Given the description of an element on the screen output the (x, y) to click on. 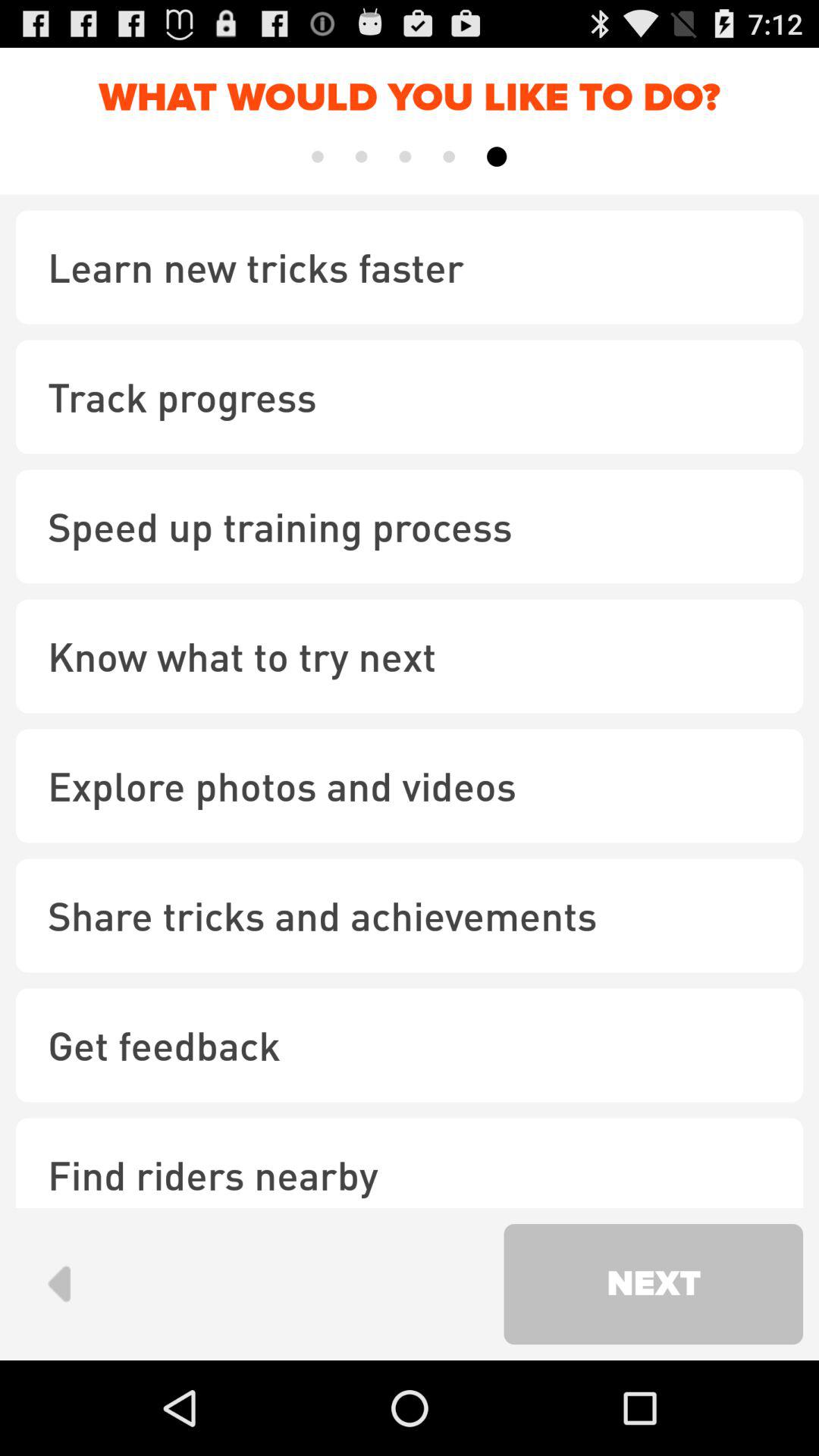
select the item below the know what to checkbox (409, 785)
